Given the description of an element on the screen output the (x, y) to click on. 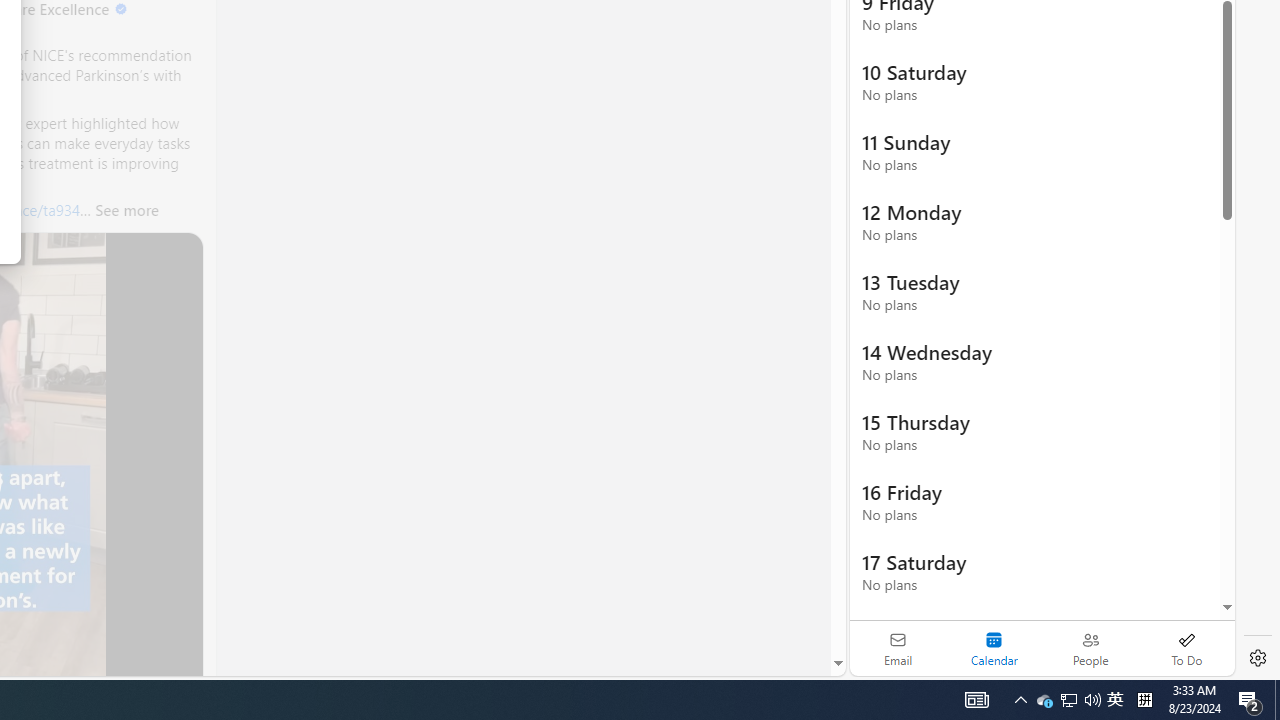
To Do (1186, 648)
Email (898, 648)
Selected calendar module. Date today is 22 (994, 648)
People (1090, 648)
